Given the description of an element on the screen output the (x, y) to click on. 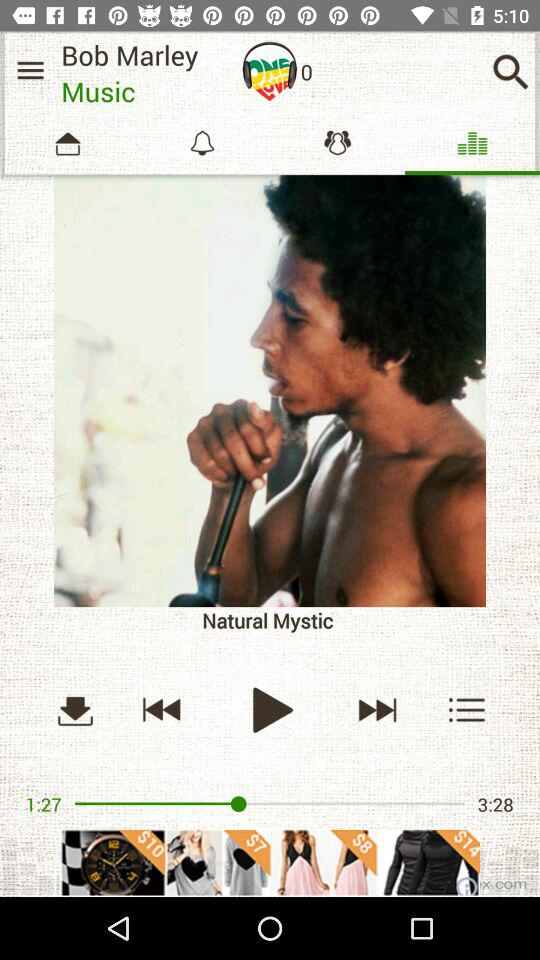
downloading (75, 709)
